Given the description of an element on the screen output the (x, y) to click on. 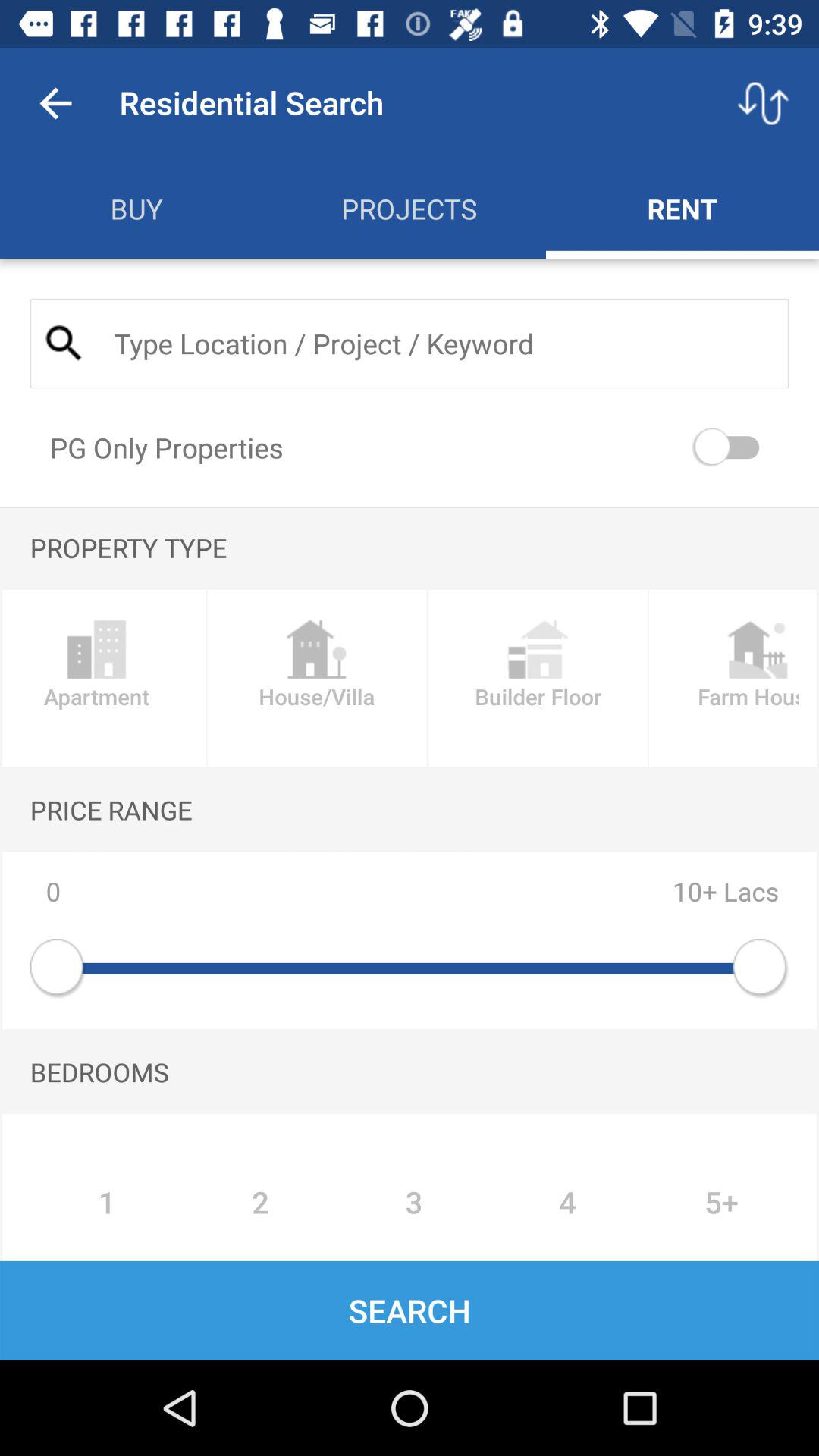
toggle pg only properties (729, 447)
